Given the description of an element on the screen output the (x, y) to click on. 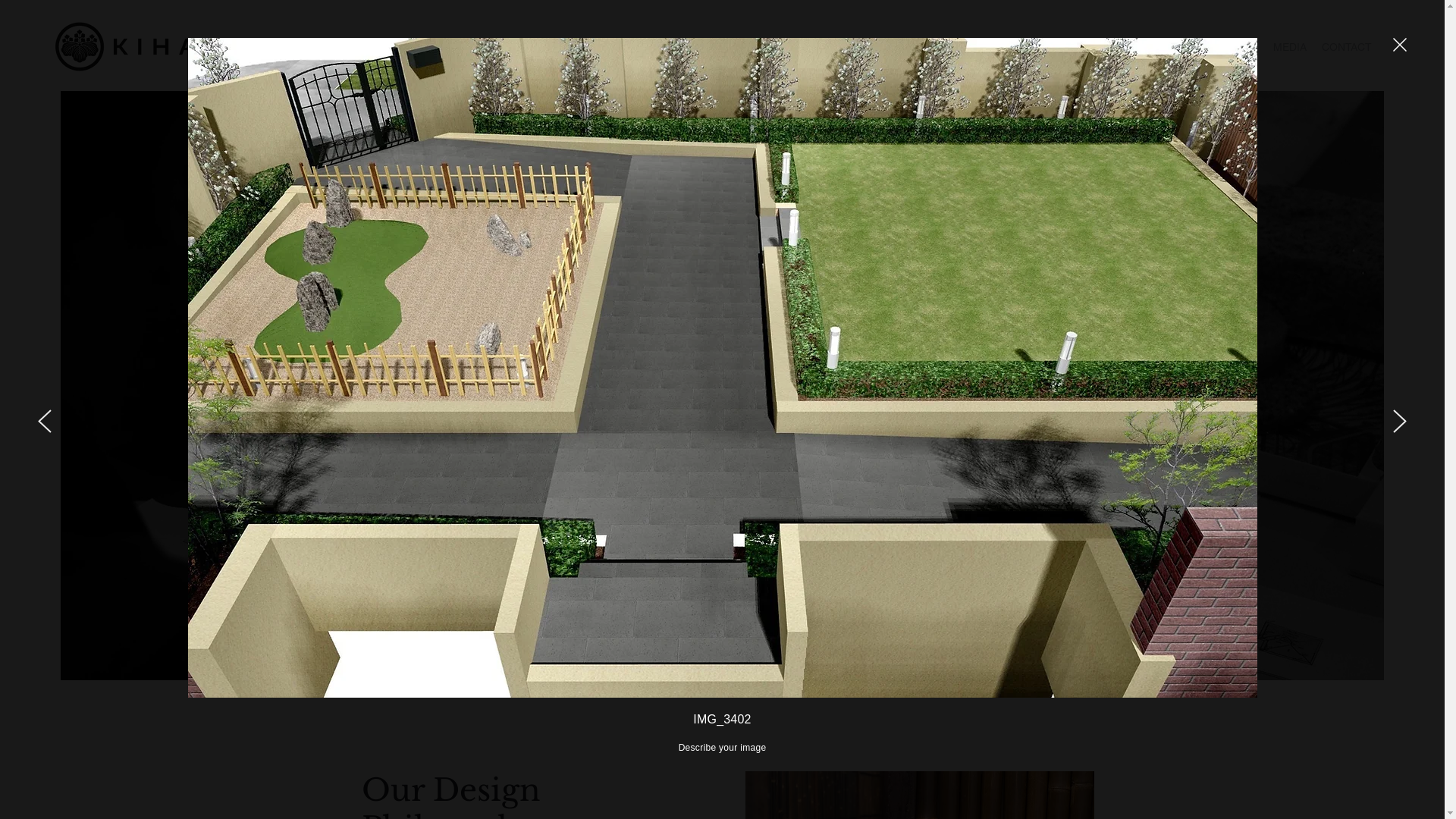
DESIGN Element type: text (1166, 46)
PROJECTS Element type: text (1229, 46)
MEDIA Element type: text (1289, 46)
ABOUT Element type: text (1046, 46)
CONTACT Element type: text (1346, 46)
HOME Element type: text (996, 46)
SERVICES Element type: text (1105, 46)
